Given the description of an element on the screen output the (x, y) to click on. 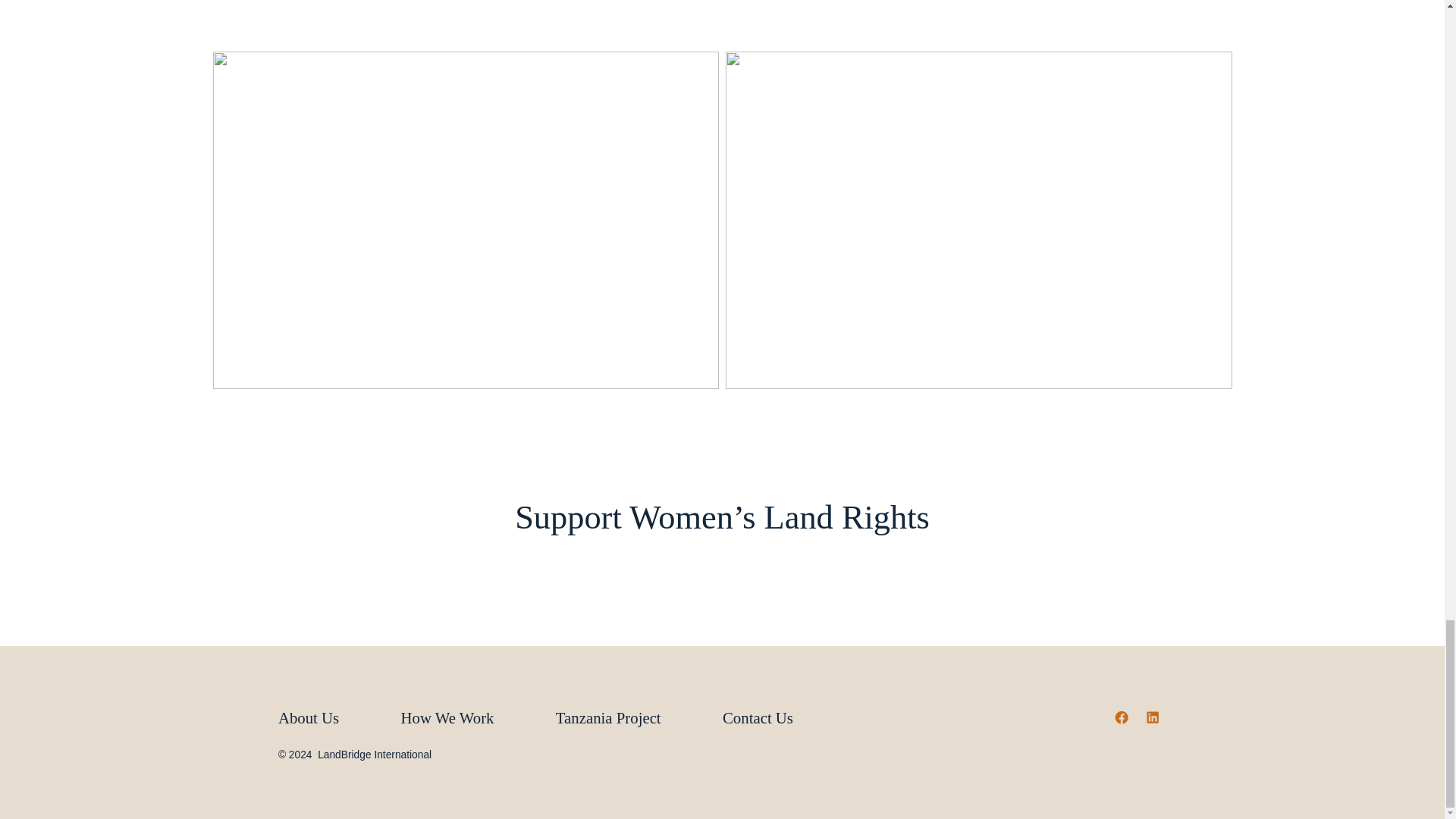
Open LinkedIn in a new tab (1152, 717)
Tanzania Project (607, 718)
How We Work (446, 718)
About Us (323, 718)
Contact Us (758, 718)
Open Facebook in a new tab (1121, 717)
